Given the description of an element on the screen output the (x, y) to click on. 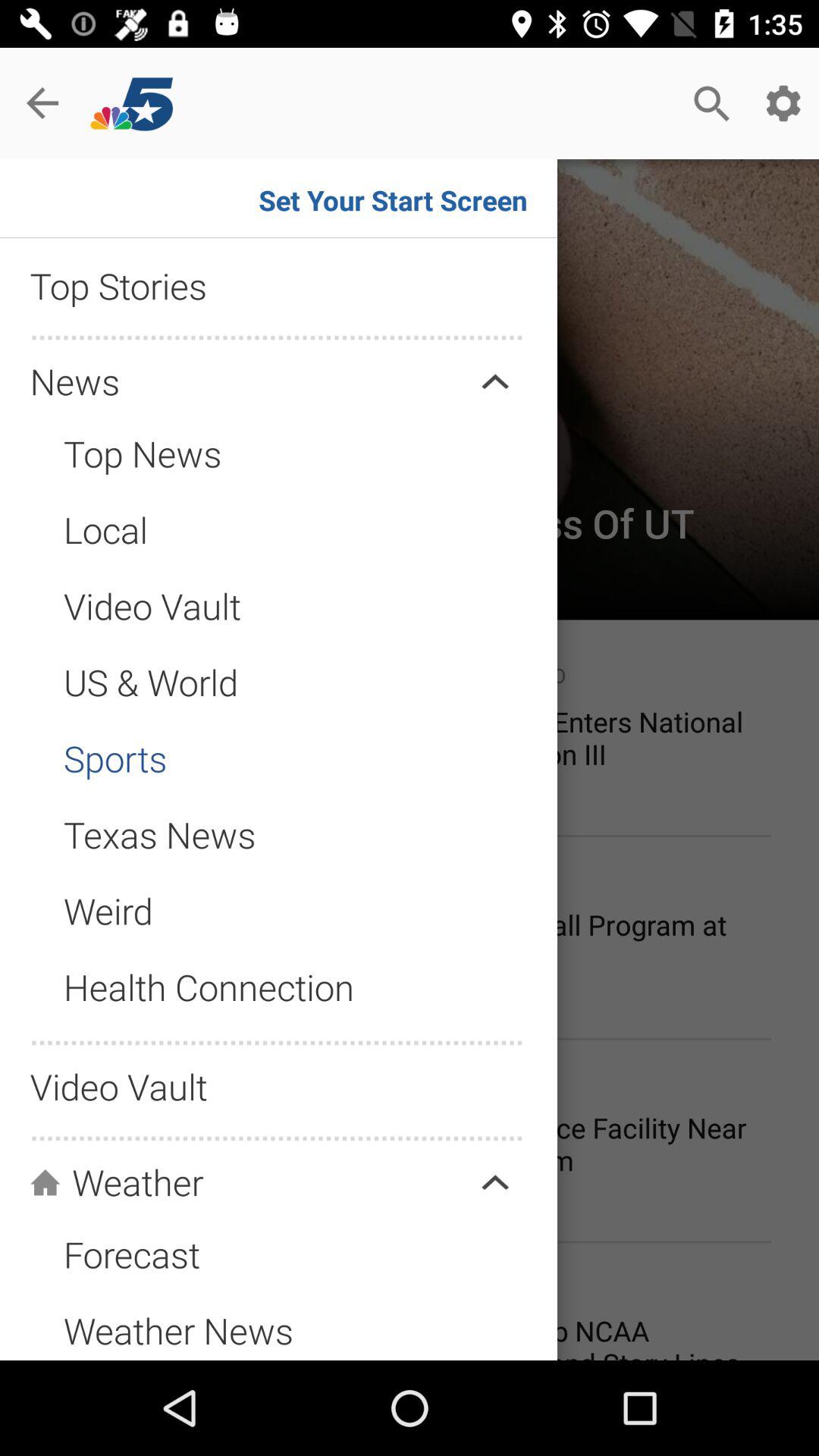
click on weather news which is in weather option below forecast (156, 1315)
